Given the description of an element on the screen output the (x, y) to click on. 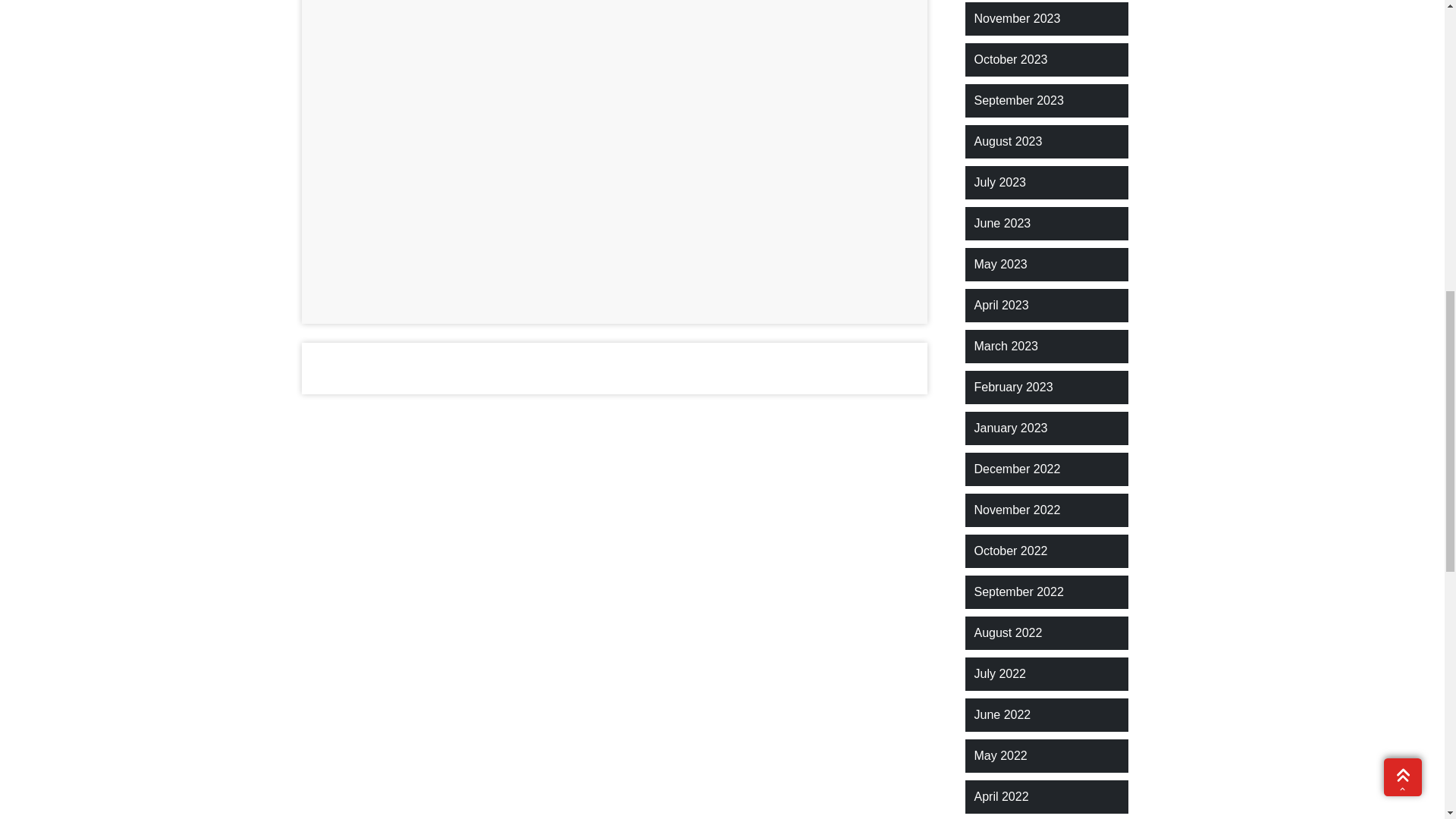
August 2023 (1008, 141)
February 2023 (1013, 387)
May 2023 (1000, 264)
June 2023 (1002, 223)
November 2023 (1016, 18)
March 2023 (1006, 346)
October 2023 (1010, 59)
September 2023 (1018, 100)
July 2022 (1000, 674)
October 2022 (1010, 551)
June 2022 (1002, 714)
July 2023 (1000, 182)
January 2023 (1010, 428)
April 2023 (1000, 305)
December 2022 (1016, 469)
